Given the description of an element on the screen output the (x, y) to click on. 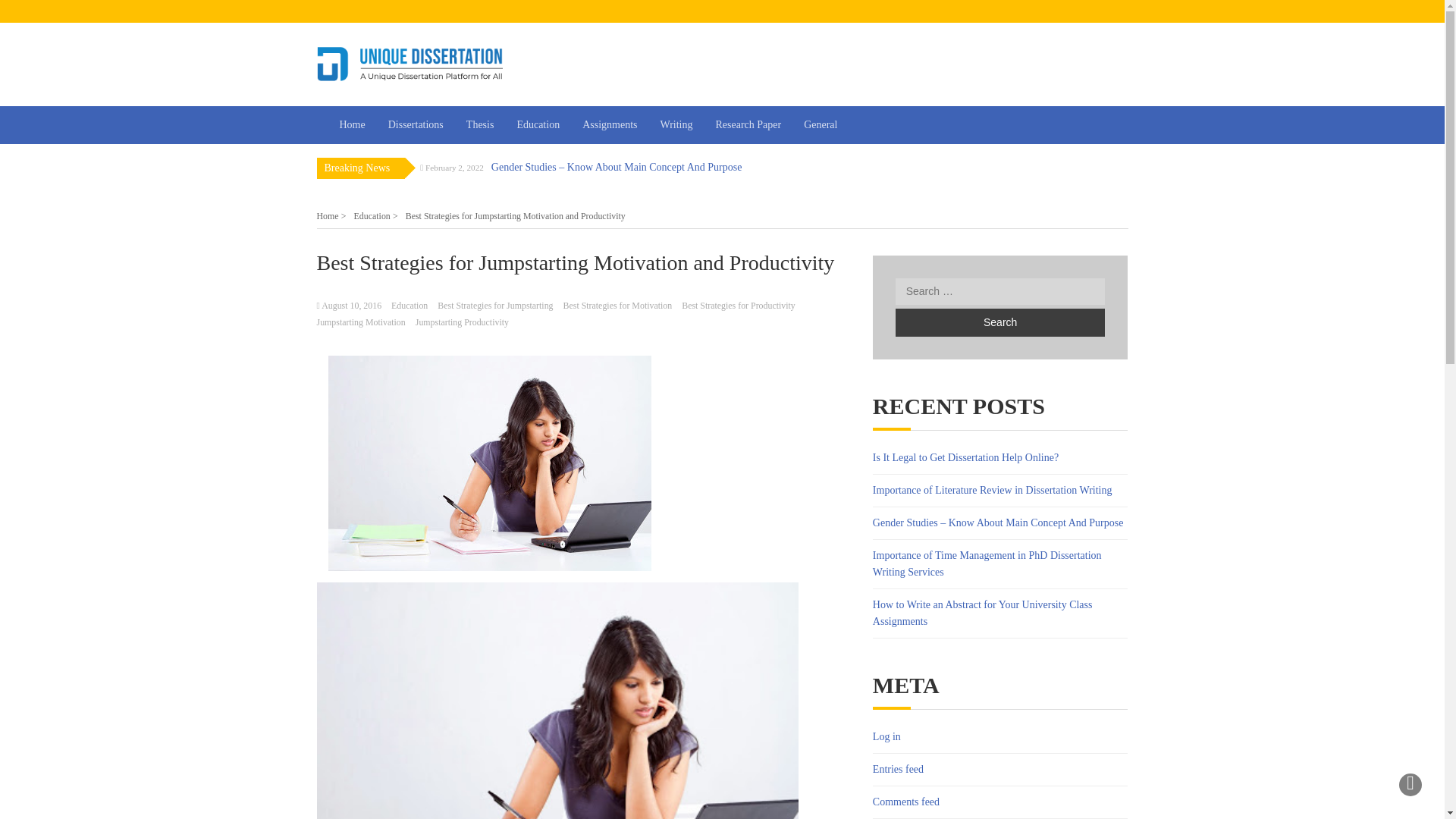
Assignments (608, 125)
Best Strategies for Motivation (617, 305)
Assignments (608, 125)
Dissertations (415, 125)
Research Paper (747, 125)
Thesis (479, 125)
Education (537, 125)
Education (537, 125)
Home (351, 125)
Search (1000, 322)
Importance of Literature Review in Dissertation Writing (992, 490)
General (820, 125)
Research Paper (747, 125)
Writing (676, 125)
Jumpstarting Motivation (361, 321)
